Given the description of an element on the screen output the (x, y) to click on. 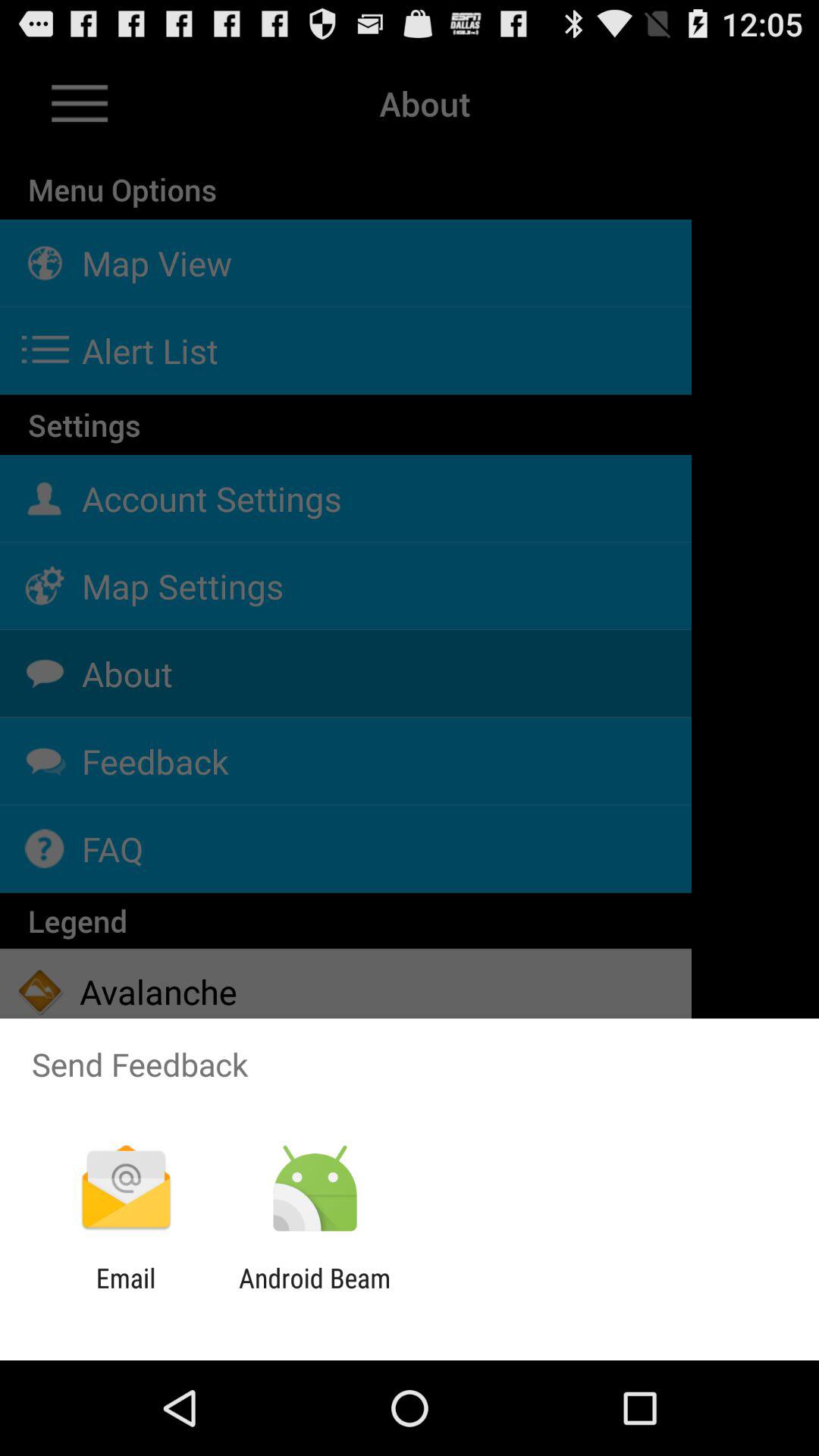
select app next to email icon (314, 1293)
